Given the description of an element on the screen output the (x, y) to click on. 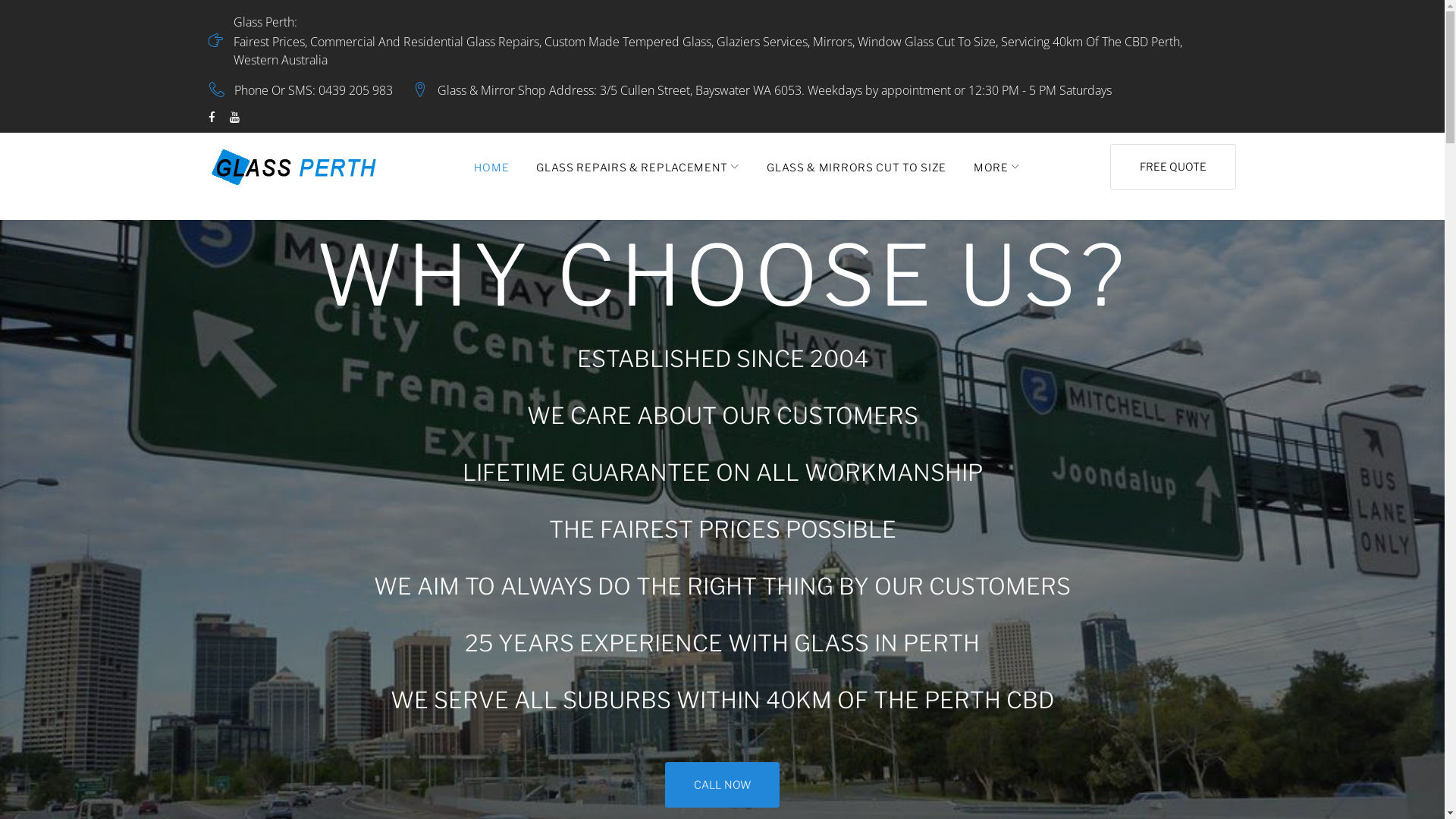
Skip to content Element type: text (0, 0)
3/5 Cullen Street, Bayswater WA 6053. Element type: text (701, 90)
Facebook Element type: text (211, 117)
FREE QUOTE Element type: text (1173, 166)
0439 205 983 Element type: text (355, 90)
HOME Element type: text (490, 166)
CALL NOW Element type: text (722, 784)
GLASS REPAIRS & REPLACEMENT Element type: text (637, 166)
YouTube Element type: text (234, 117)
GLASS & MIRRORS CUT TO SIZE Element type: text (856, 166)
MORE Element type: text (996, 166)
